Given the description of an element on the screen output the (x, y) to click on. 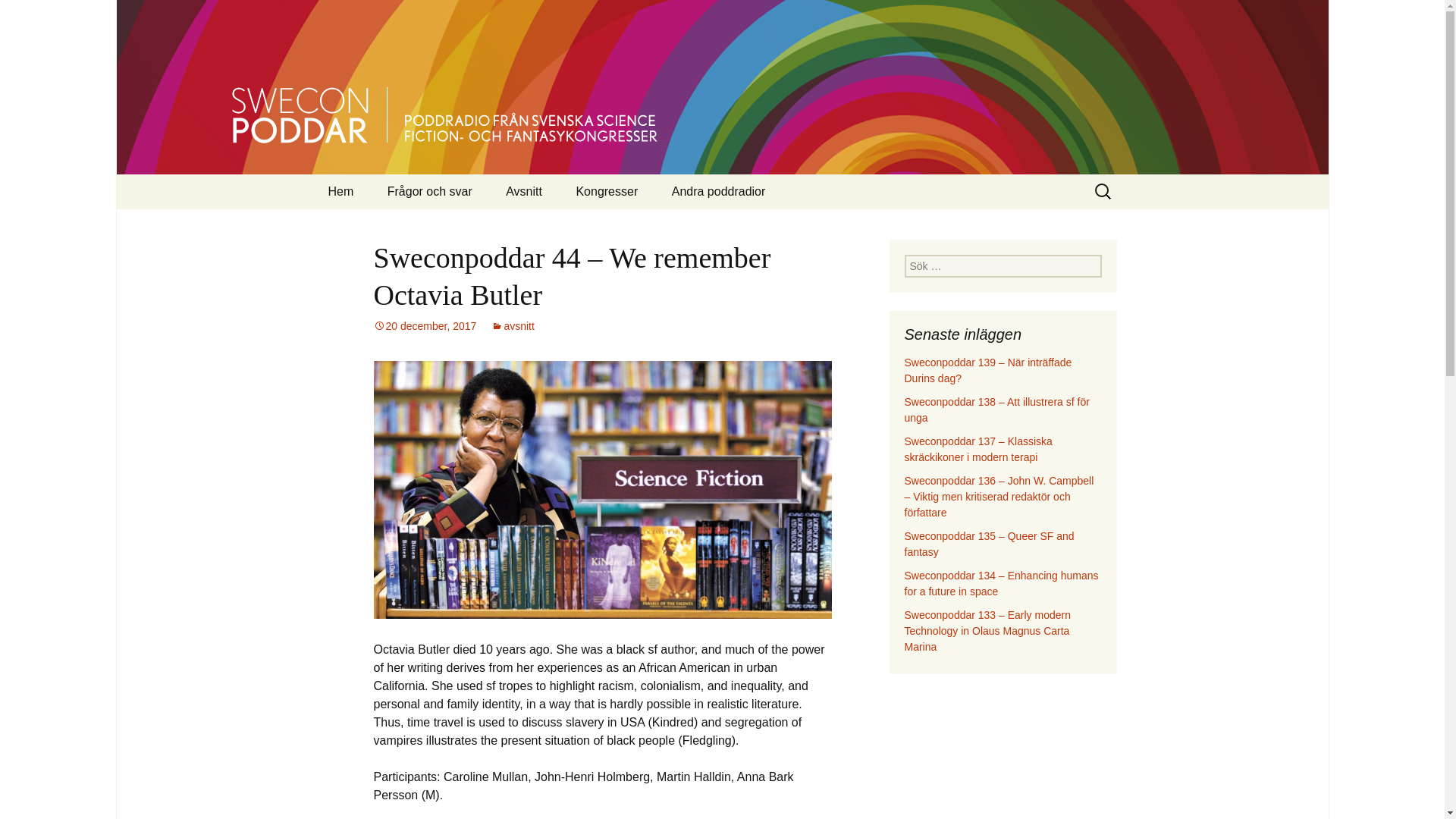
Hem (340, 191)
Avsnitt (523, 191)
Kongresser (606, 191)
Fandompodden (732, 226)
avsnitt (513, 326)
Andra poddradior (718, 191)
20 december, 2017 (424, 326)
